Given the description of an element on the screen output the (x, y) to click on. 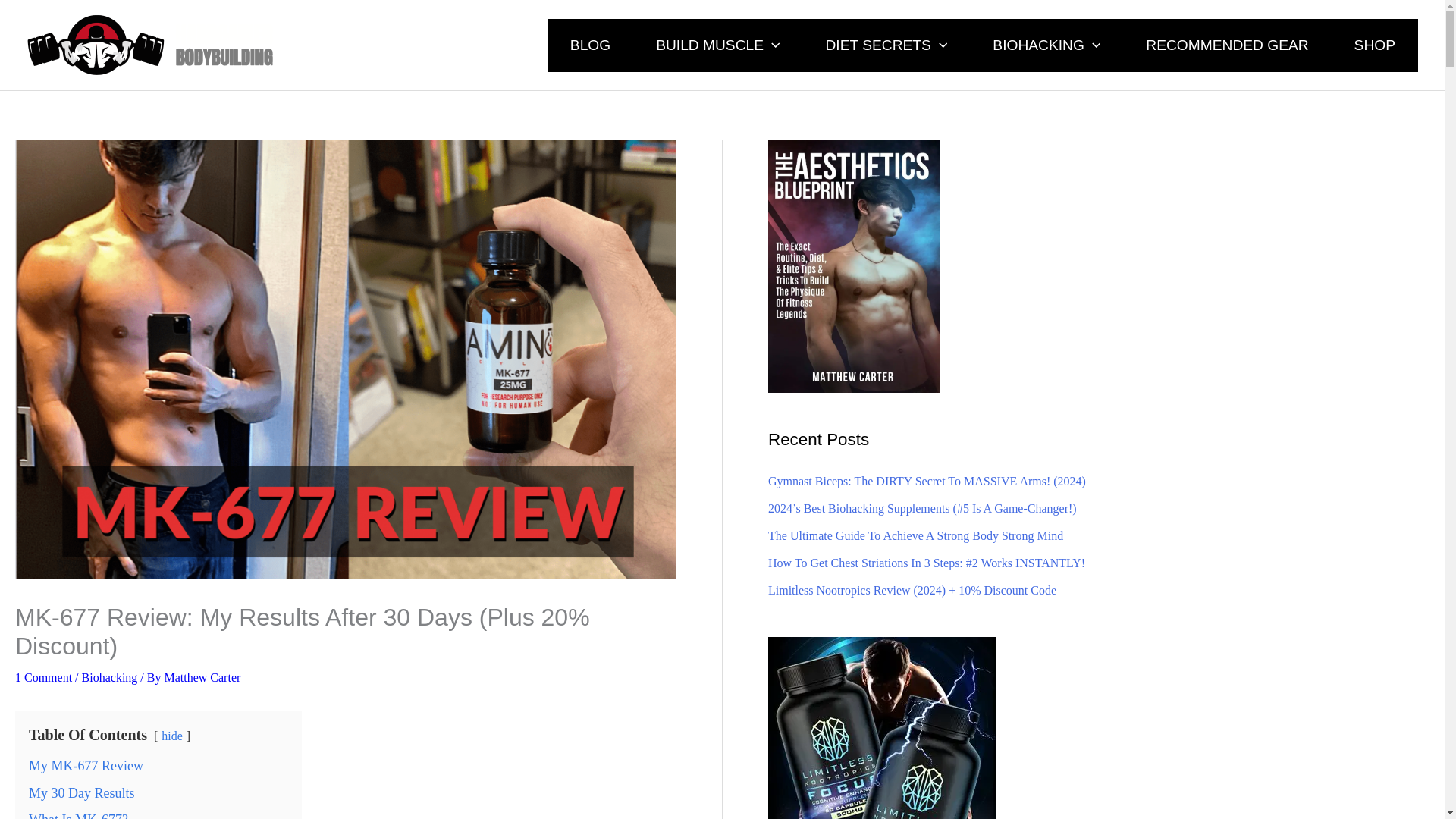
View all posts by Matthew Carter (201, 676)
RECOMMENDED GEAR (1226, 44)
SHOP (1375, 44)
BUILD MUSCLE (717, 44)
BIOHACKING (1045, 44)
DIET SECRETS (885, 44)
BLOG (590, 44)
